Given the description of an element on the screen output the (x, y) to click on. 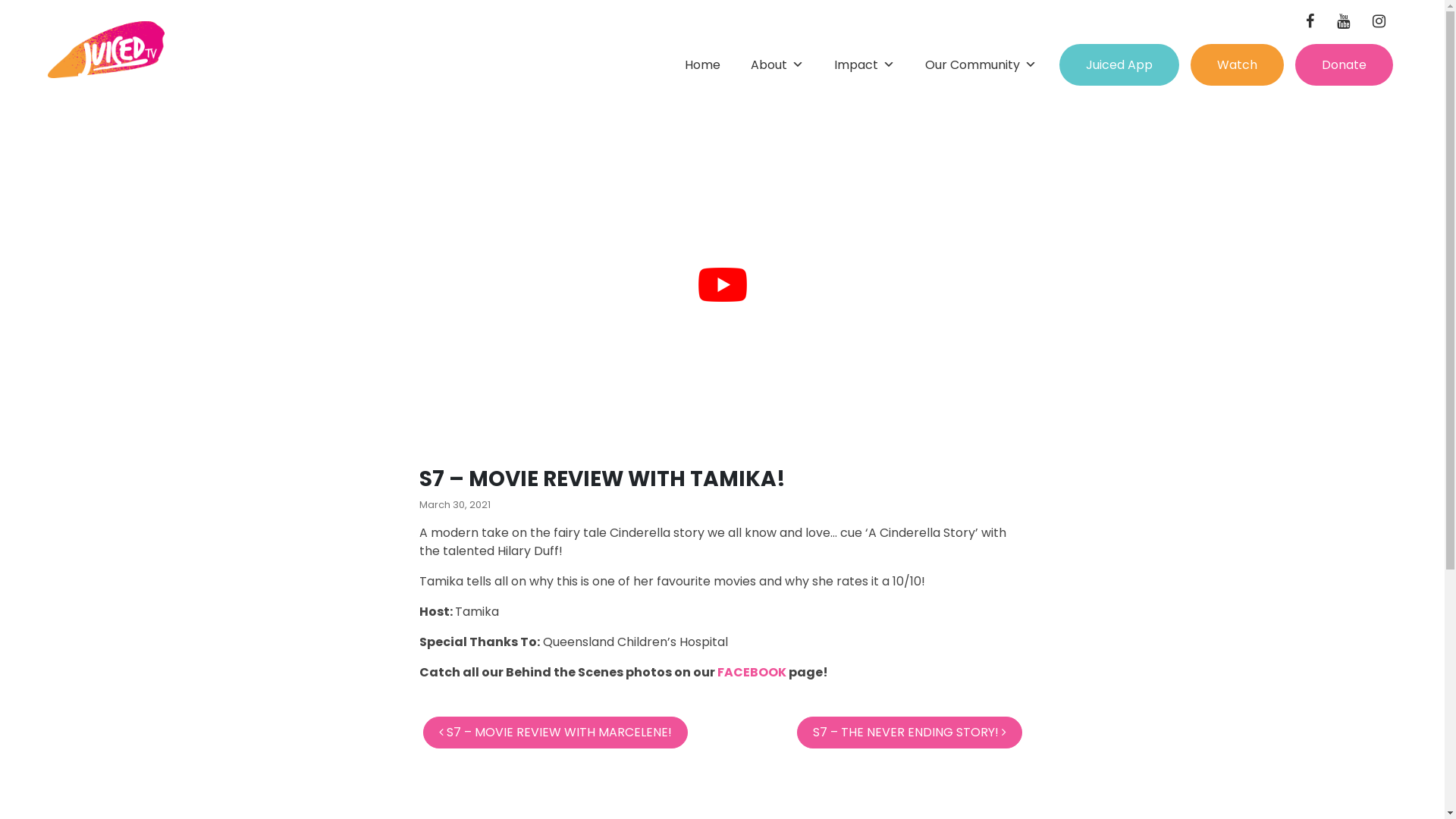
Donate Element type: text (1344, 64)
Watch Element type: text (1236, 64)
About Element type: text (777, 64)
FACEBOOK Element type: text (751, 671)
Our Community Element type: text (980, 64)
Juiced App Element type: text (1119, 64)
Home Element type: text (702, 64)
Impact Element type: text (864, 64)
